Given the description of an element on the screen output the (x, y) to click on. 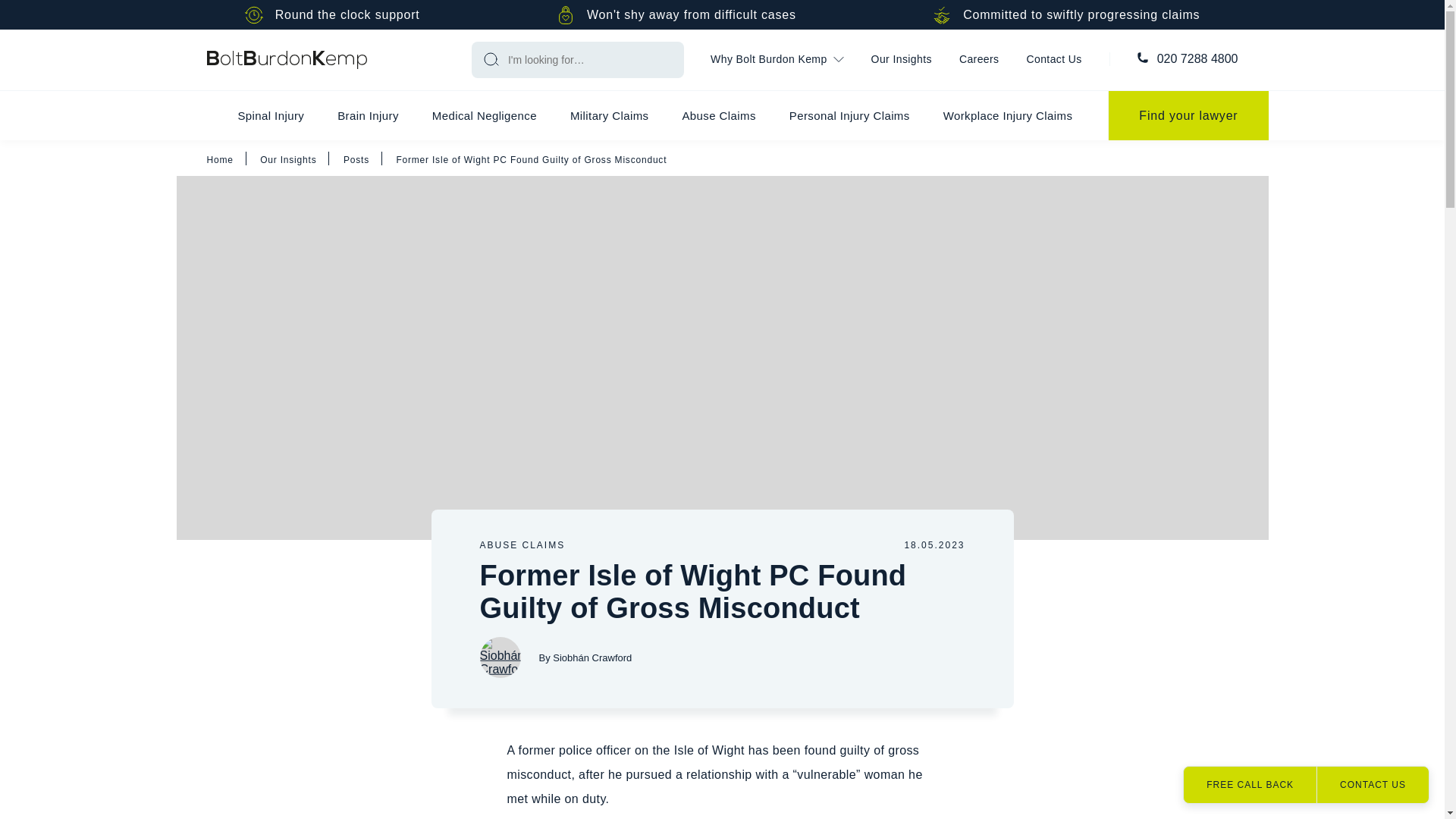
Home (286, 58)
Why Bolt Burdon Kemp (777, 60)
Our Insights (900, 60)
FREE CALL BACK (1249, 784)
Contact Us (1053, 60)
Spinal Injury (270, 115)
CONTACT US (1372, 784)
Brain Injury (367, 115)
Medical Negligence (483, 115)
Careers (978, 60)
